Given the description of an element on the screen output the (x, y) to click on. 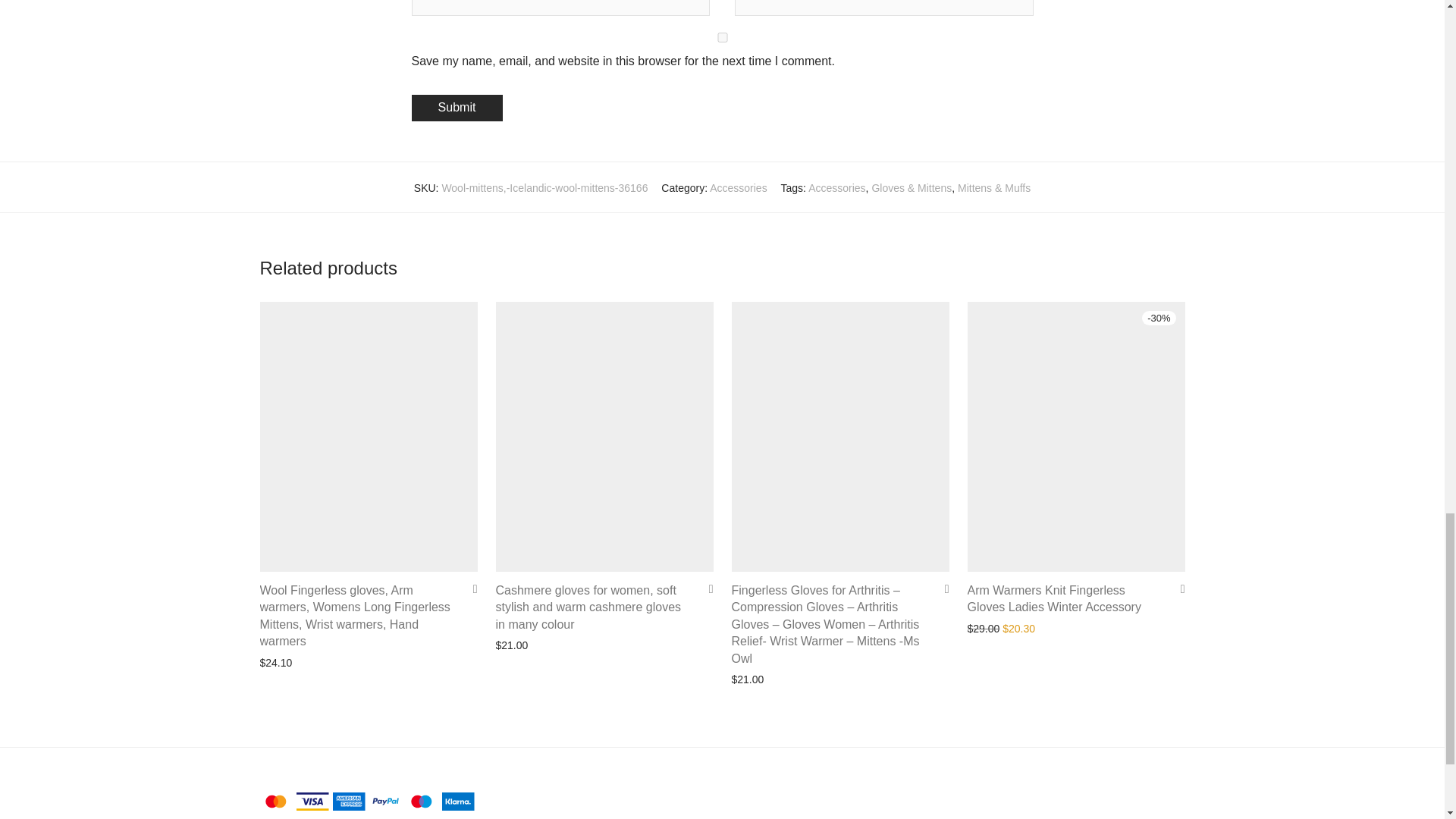
Submit (456, 108)
Accessories (836, 187)
Accessories (738, 187)
Add to Wishlist (470, 588)
Add to Wishlist (705, 588)
yes (721, 37)
Add to Wishlist (941, 588)
Add to Wishlist (1177, 588)
Submit (456, 108)
